Given the description of an element on the screen output the (x, y) to click on. 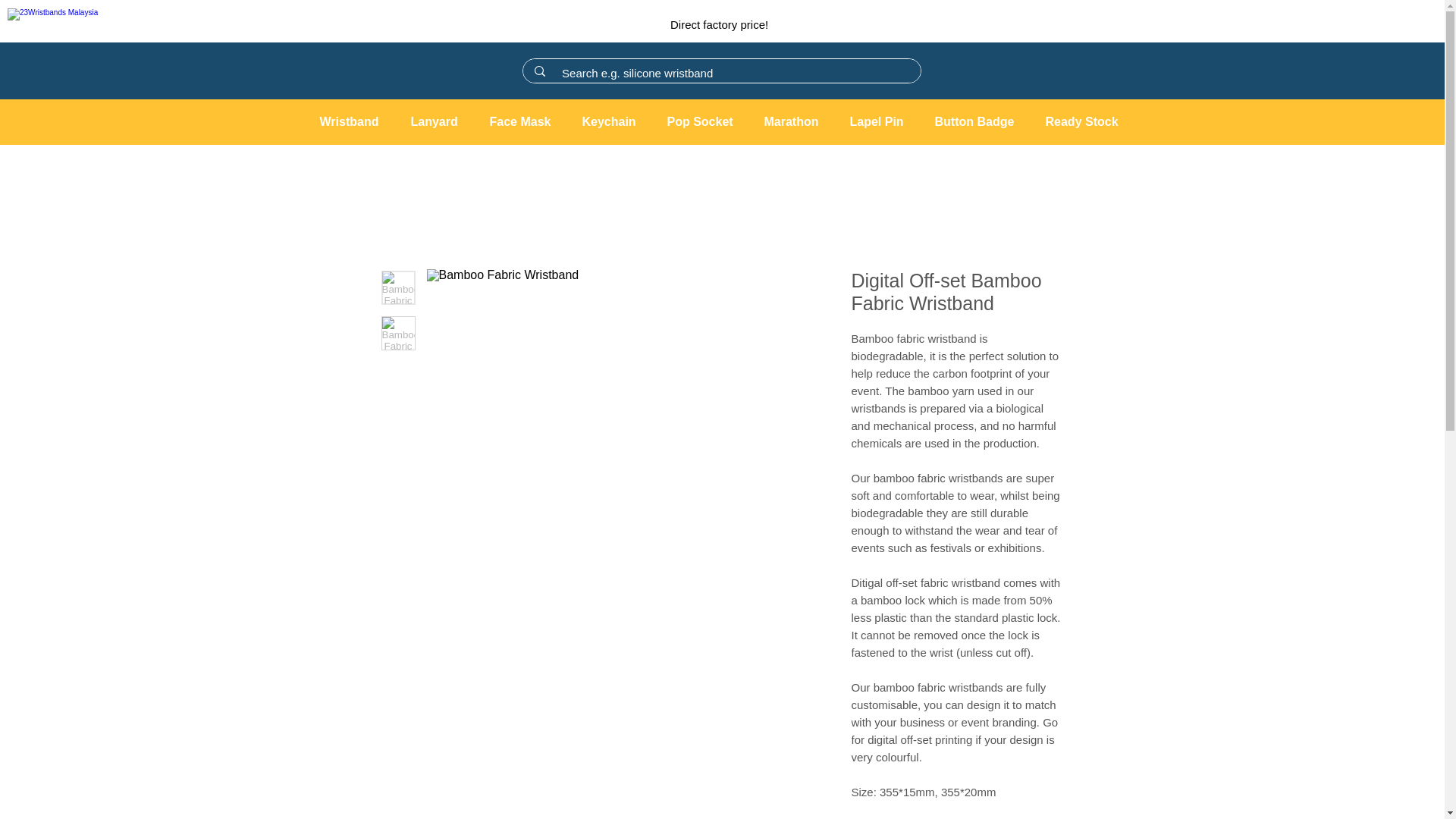
Button Badge (978, 121)
Ready Stock (1085, 121)
134x47.png (70, 21)
Lapel Pin (880, 121)
Pop Socket (703, 121)
